Given the description of an element on the screen output the (x, y) to click on. 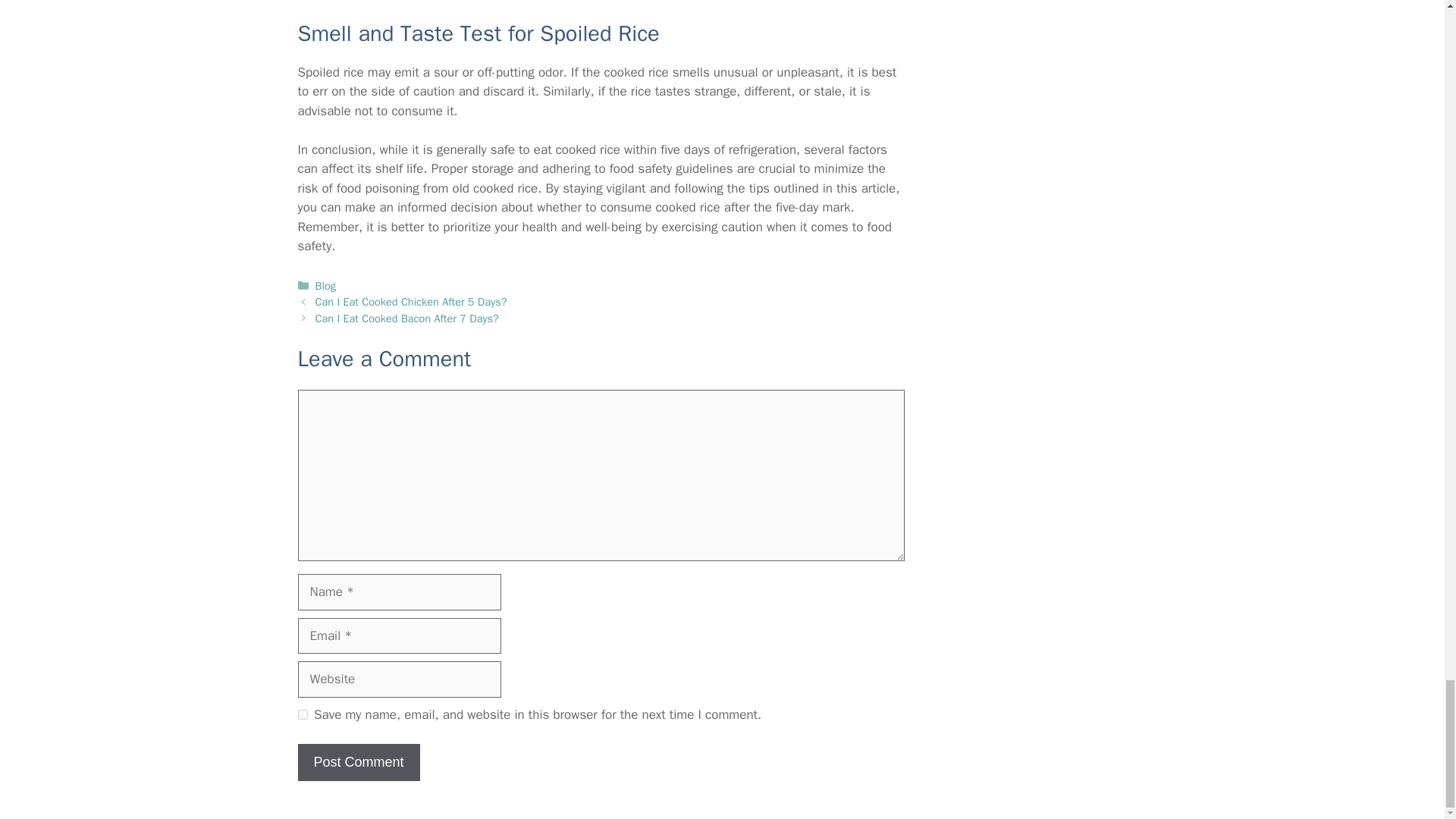
Can I Eat Cooked Chicken After 5 Days? (410, 301)
Post Comment (358, 762)
Can I Eat Cooked Bacon After 7 Days? (407, 318)
yes (302, 714)
Blog (325, 285)
Post Comment (358, 762)
